Given the description of an element on the screen output the (x, y) to click on. 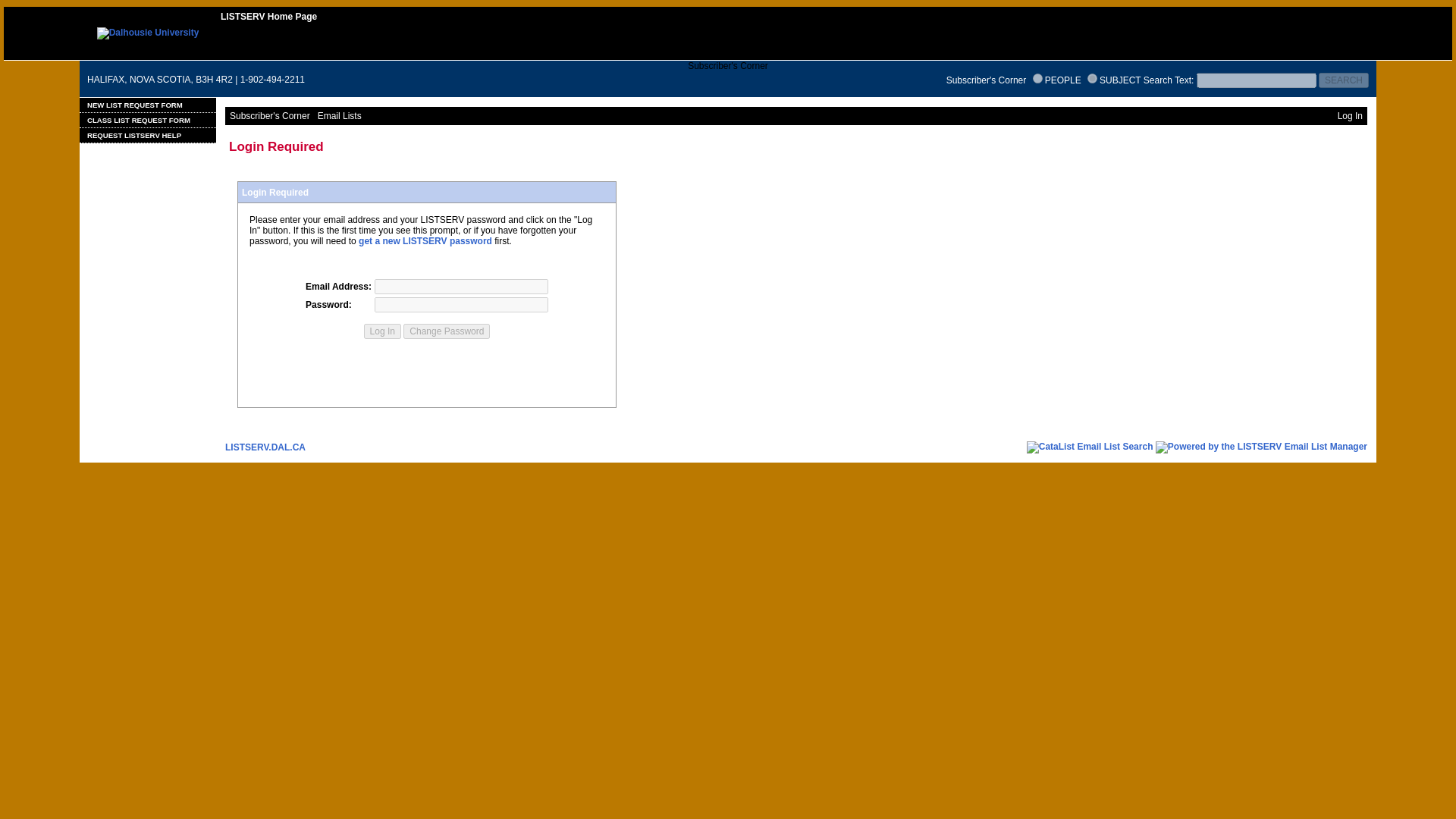
on (1092, 78)
LISTSERV Home Page (269, 16)
on (1037, 78)
CataList Email List Search (1089, 447)
CLASS LIST REQUEST FORM (147, 120)
Powered by the LISTSERV Email List Manager (1261, 447)
SEARCH (1343, 79)
get a new LISTSERV password (425, 240)
Log In (382, 331)
LISTSERV.DAL.CA (265, 447)
